Given the description of an element on the screen output the (x, y) to click on. 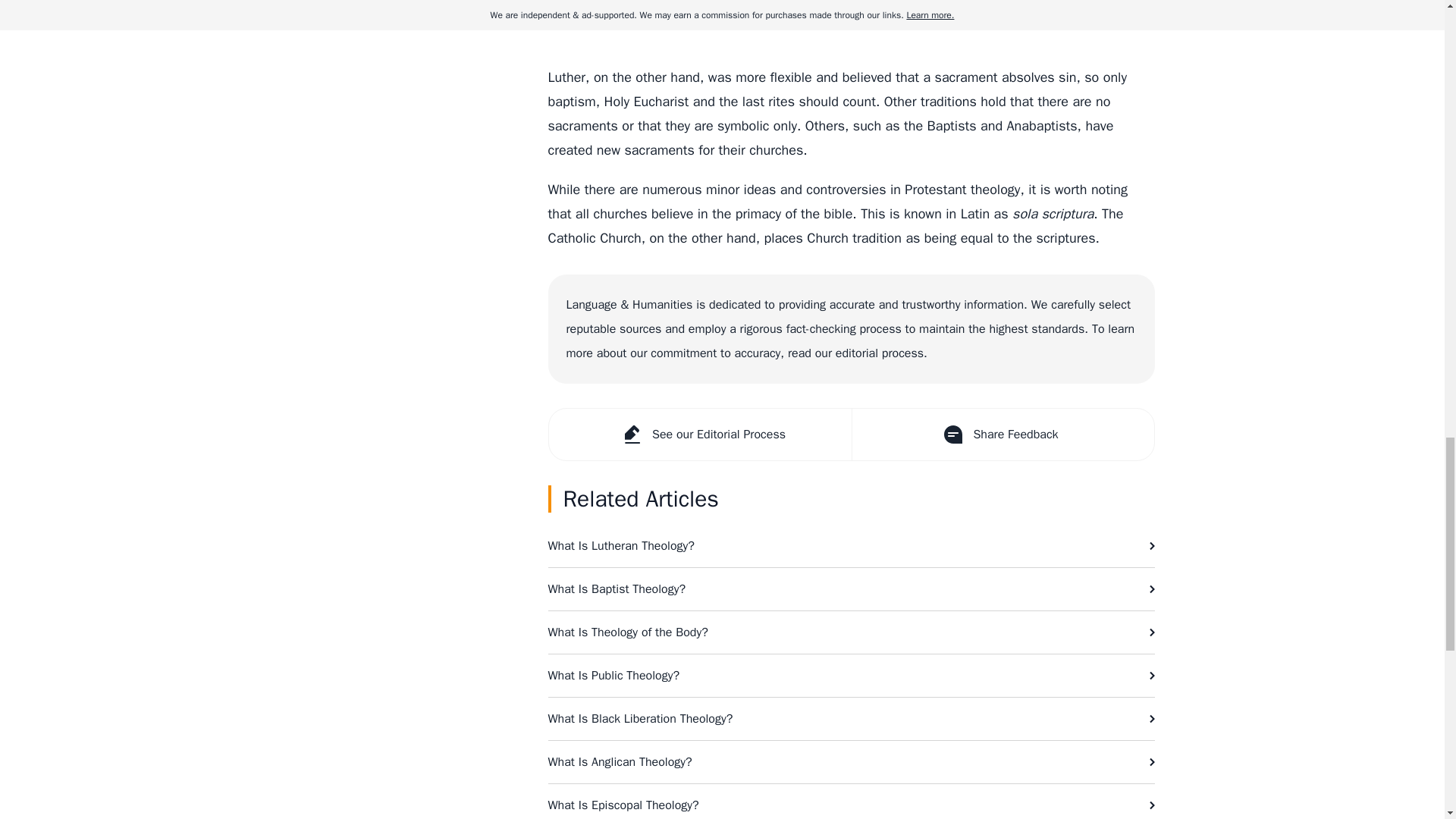
Share Feedback (1001, 434)
What Is Public Theology? (850, 675)
What Is Black Liberation Theology? (850, 718)
See our Editorial Process (699, 434)
What Is Lutheran Theology? (850, 545)
What Is Baptist Theology? (850, 589)
What Is Theology of the Body? (850, 631)
